Given the description of an element on the screen output the (x, y) to click on. 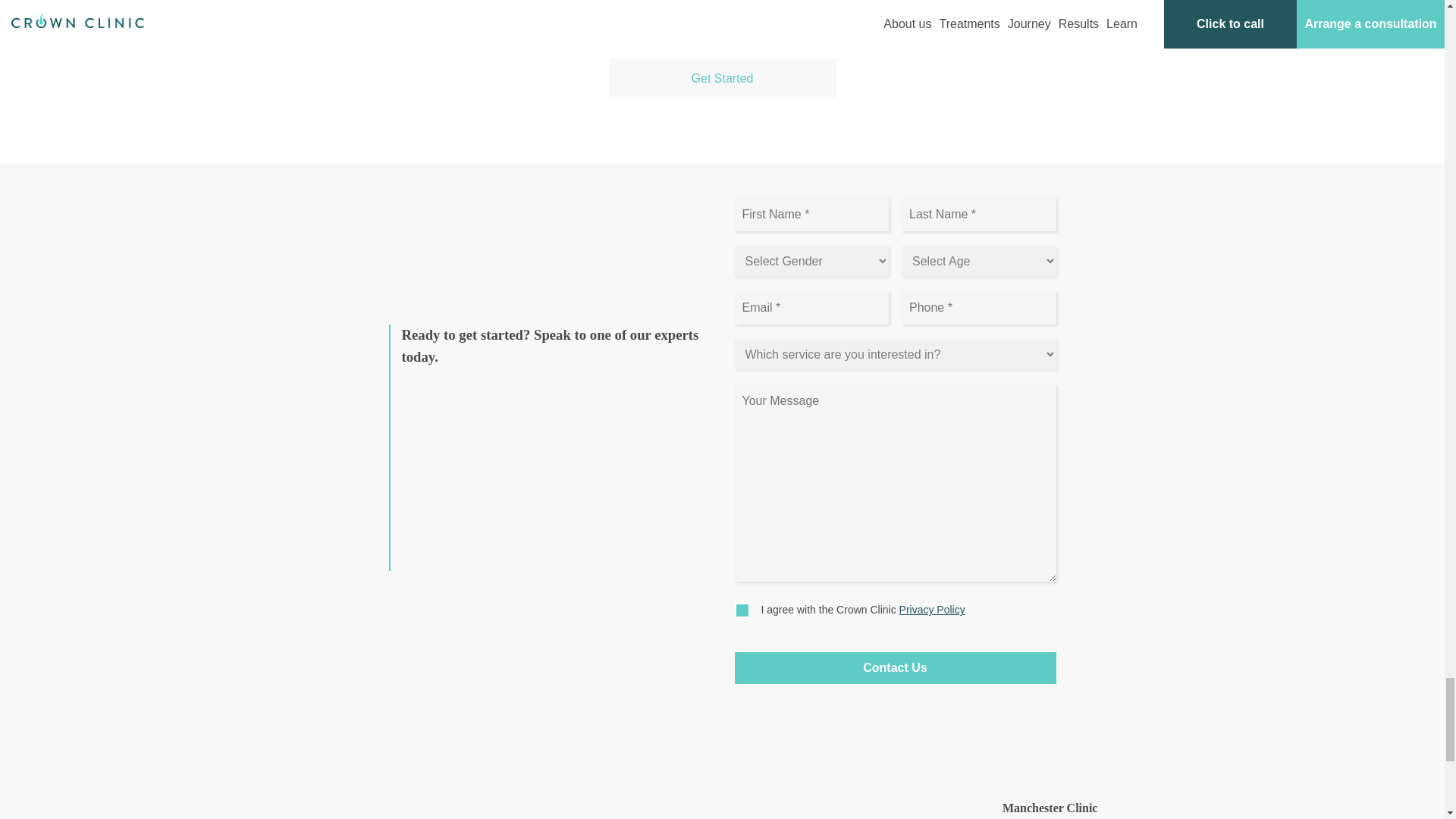
Contact Us (894, 667)
1 (741, 610)
